Given the description of an element on the screen output the (x, y) to click on. 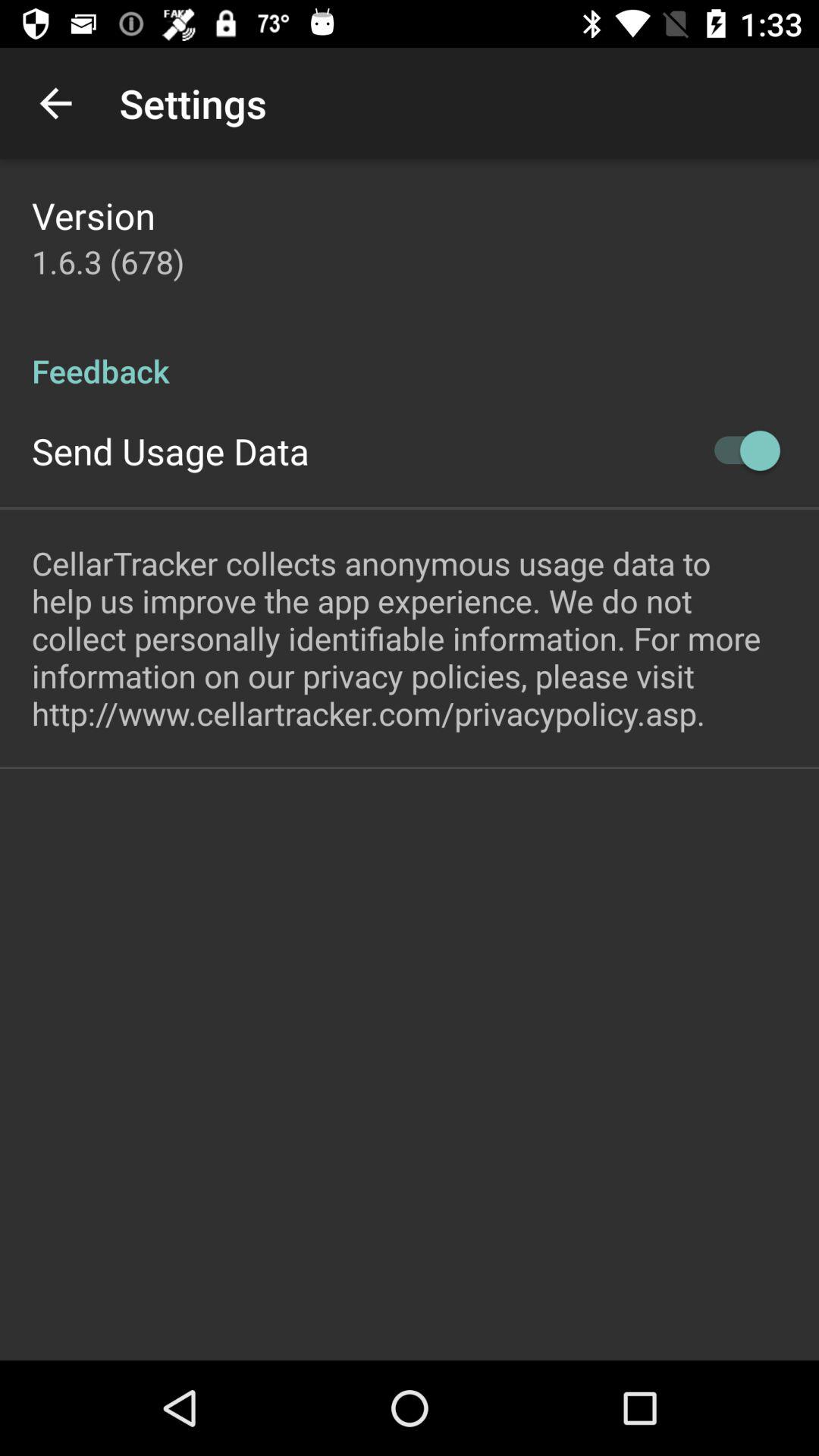
turn on item at the top right corner (739, 450)
